Given the description of an element on the screen output the (x, y) to click on. 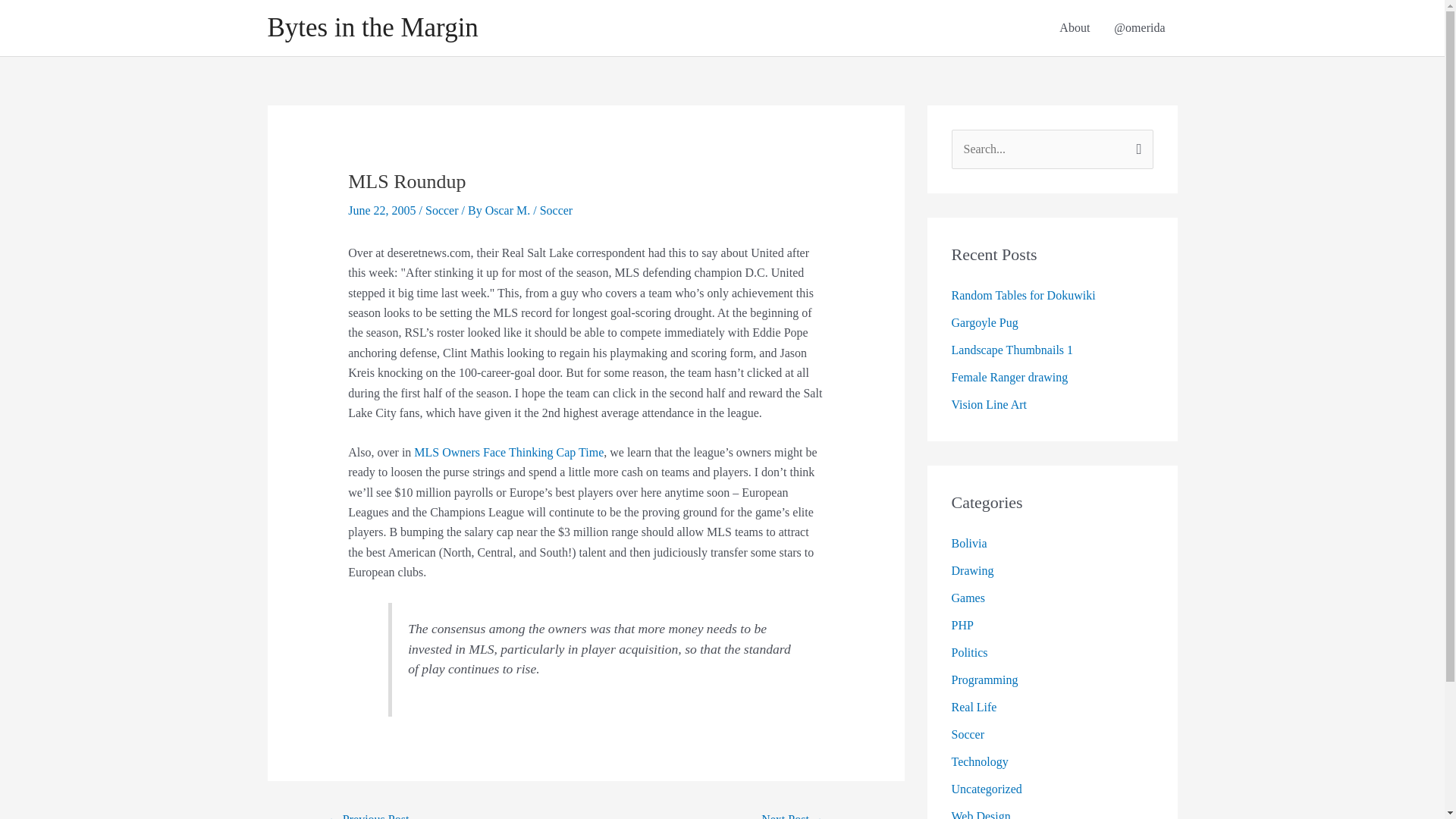
Programming (983, 679)
Bolivia (968, 543)
View all posts by Oscar M. (509, 210)
Search (1136, 145)
Soccer (967, 734)
Random Tables for Dokuwiki (1022, 295)
Politics (968, 652)
Technology (978, 761)
Female Ranger drawing (1008, 377)
Tacit knowledge - inherent or learned (792, 812)
